Given the description of an element on the screen output the (x, y) to click on. 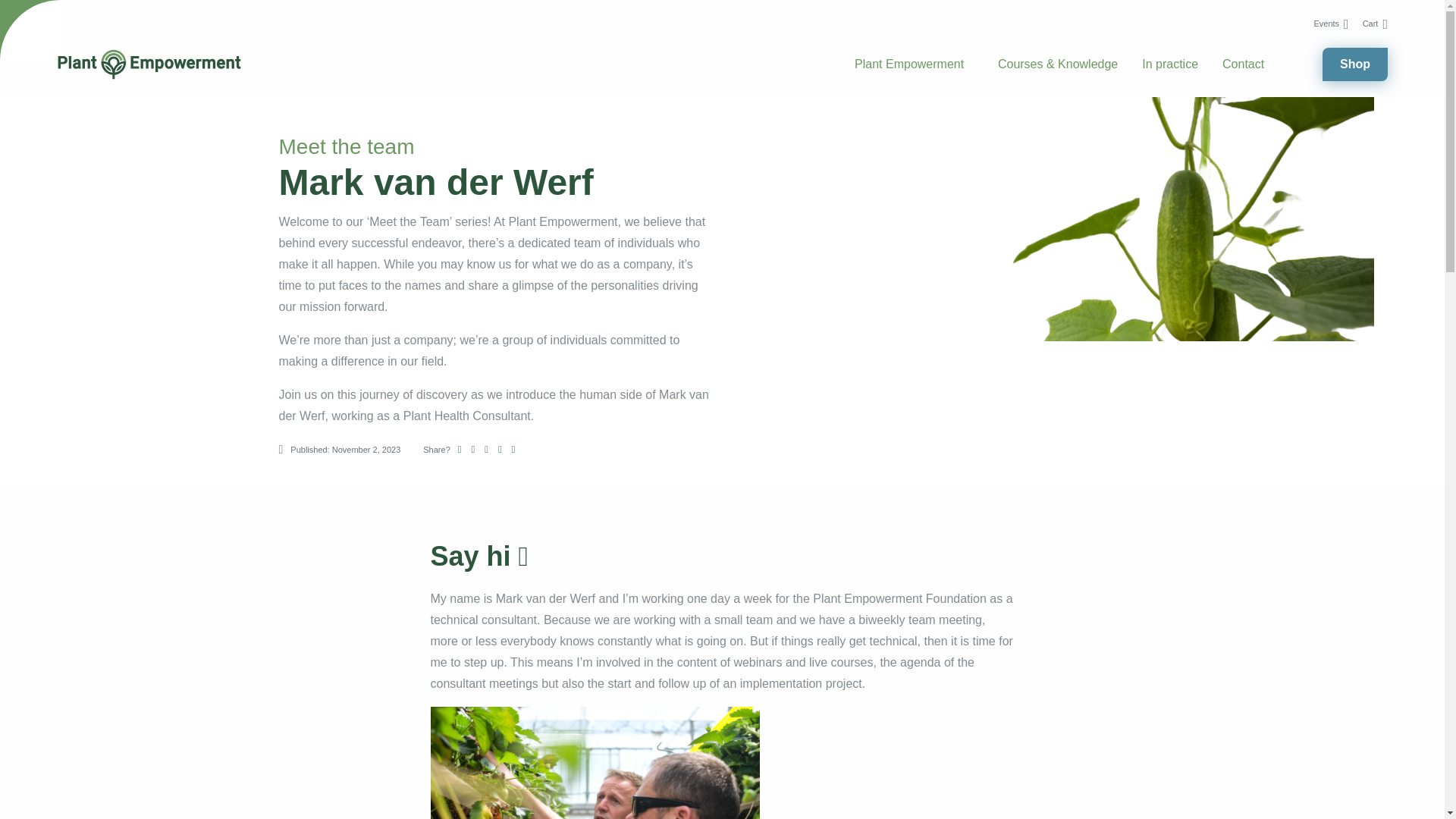
Events (1330, 23)
Contact (1243, 64)
Plant Empowerment (908, 64)
Shop (1354, 64)
In practice (1169, 64)
Cart (1374, 23)
